Given the description of an element on the screen output the (x, y) to click on. 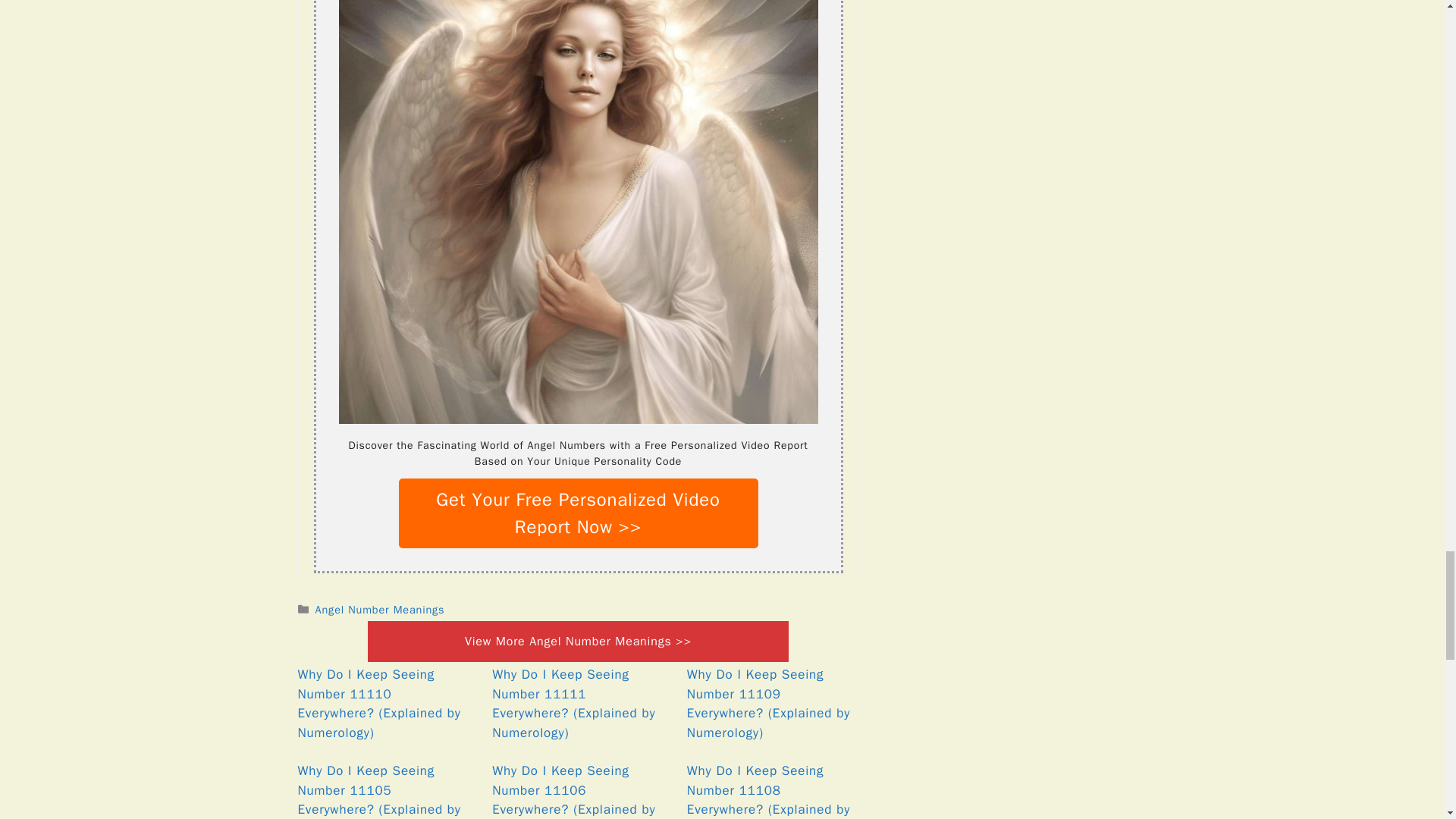
Angel Number Meanings (380, 609)
